Given the description of an element on the screen output the (x, y) to click on. 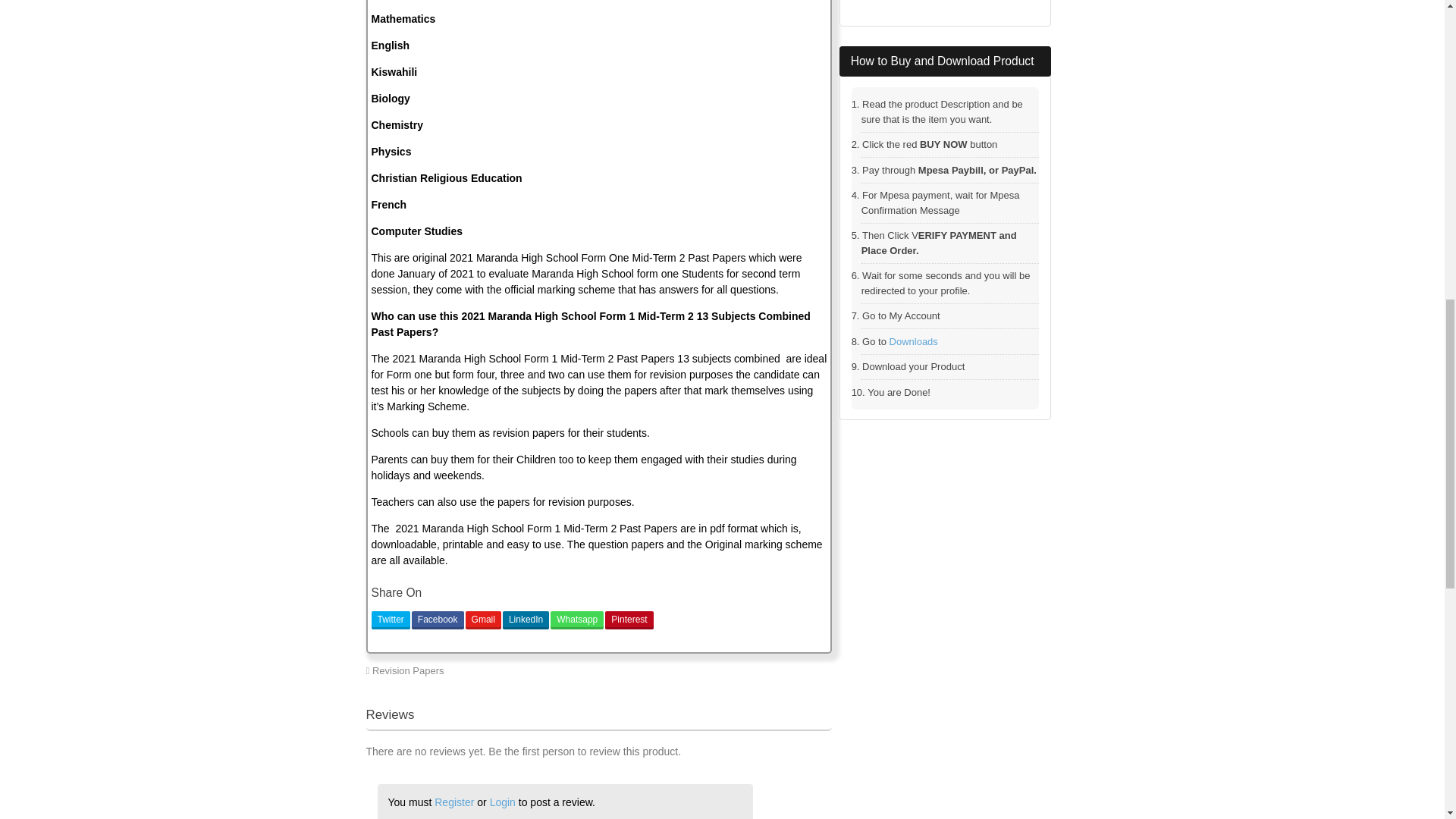
Whatsapp (577, 619)
Revision Papers (408, 670)
Pinterest (628, 619)
Gmail (482, 619)
Maranda Mid-Term 2 Past Papers 2021 (739, 670)
Twitter (390, 619)
Facebook (438, 619)
LinkedIn (525, 619)
